Given the description of an element on the screen output the (x, y) to click on. 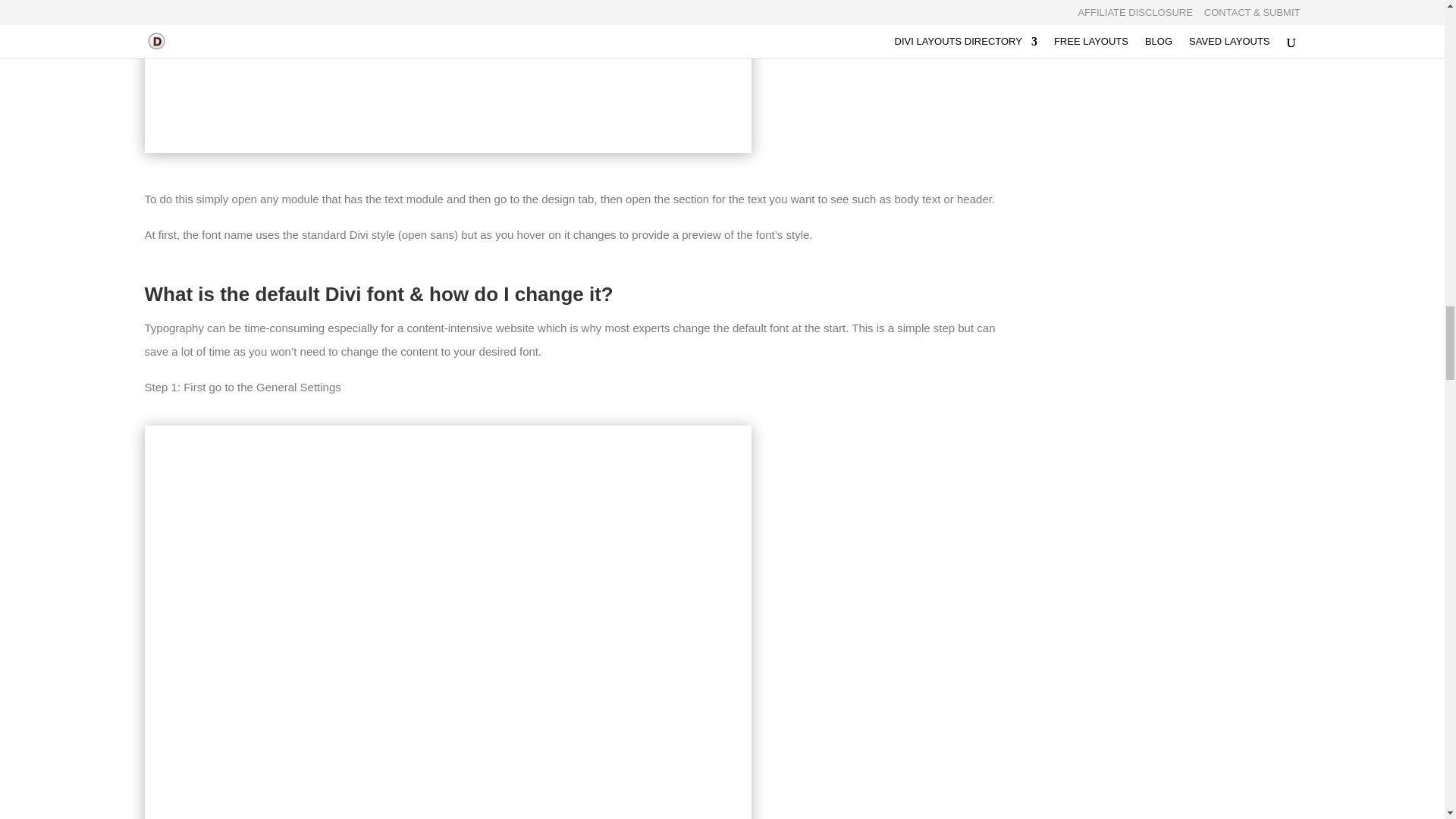
preview divi fonts (447, 76)
